Given the description of an element on the screen output the (x, y) to click on. 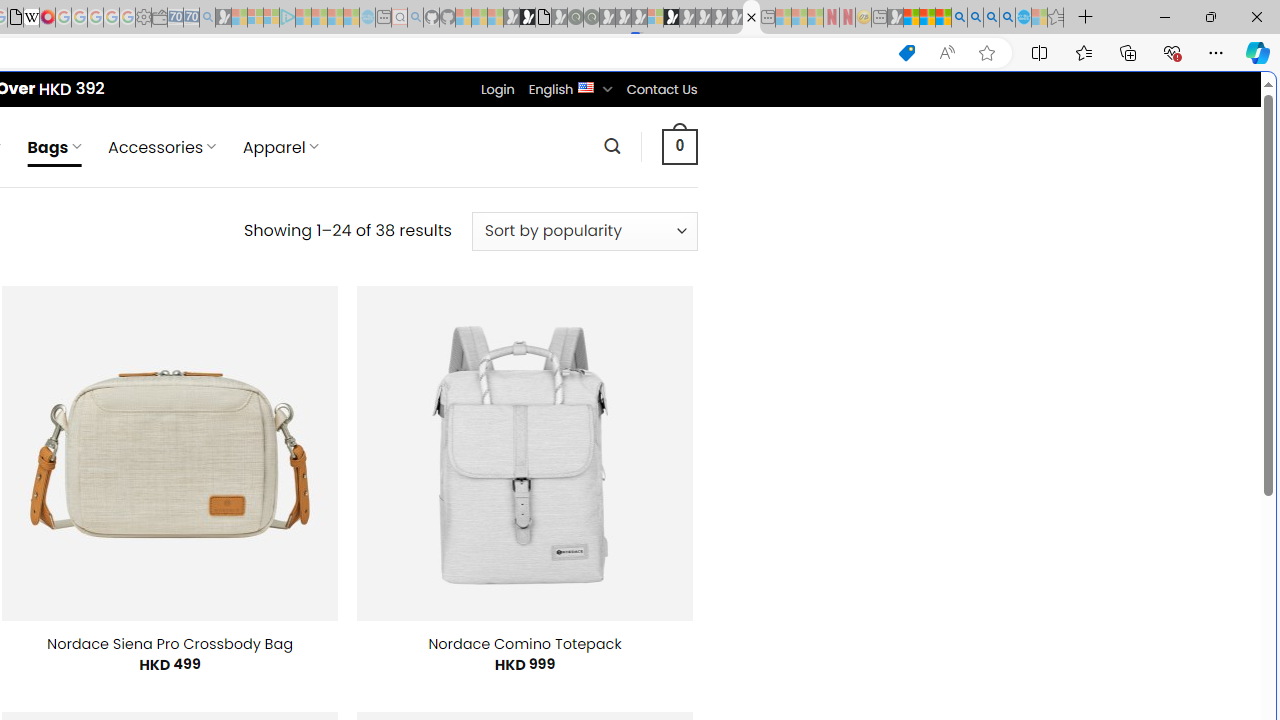
Contact Us (661, 89)
Tabs you've opened (276, 265)
  0   (679, 146)
Nordace Siena Pro Crossbody Bag (170, 643)
Nordace - Bags (751, 17)
